Given the description of an element on the screen output the (x, y) to click on. 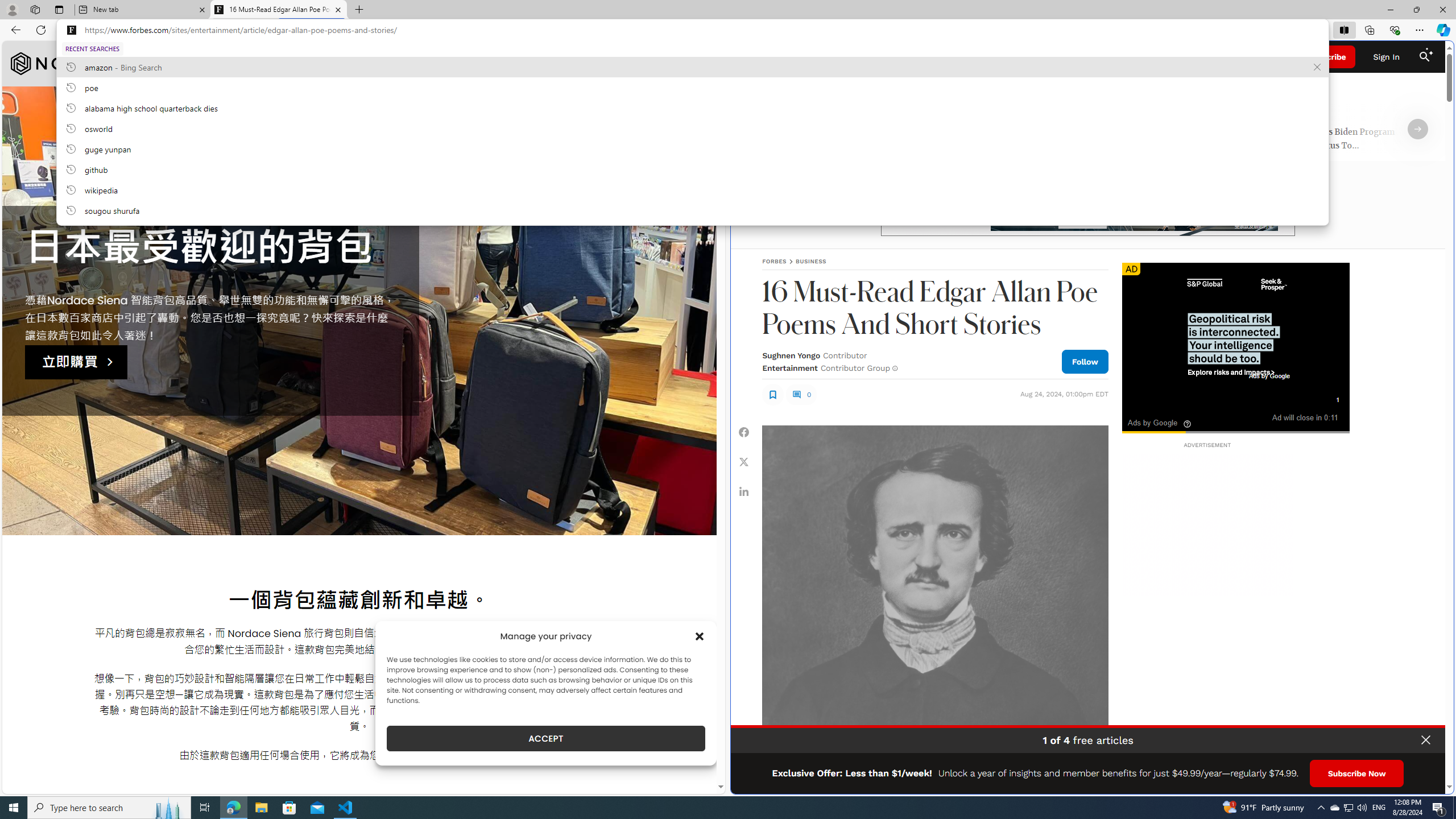
guge yunpan, recent searches from history (691, 148)
Class: close-button unbutton (1425, 740)
Class: fs-icon fs-icon--xCorp (743, 461)
ACCEPT (545, 738)
Class: fs-icon fs-icon--comment (796, 394)
poe, recent searches from history (691, 86)
Class: sElHJWe4 (772, 394)
Class: wtaIconSvg (1187, 423)
FORBES (774, 261)
Sughnen Yongo (790, 354)
Share Linkedin (743, 490)
Class: sparkles_svg__fs-icon sparkles_svg__fs-icon--sparkles (1430, 51)
